Given the description of an element on the screen output the (x, y) to click on. 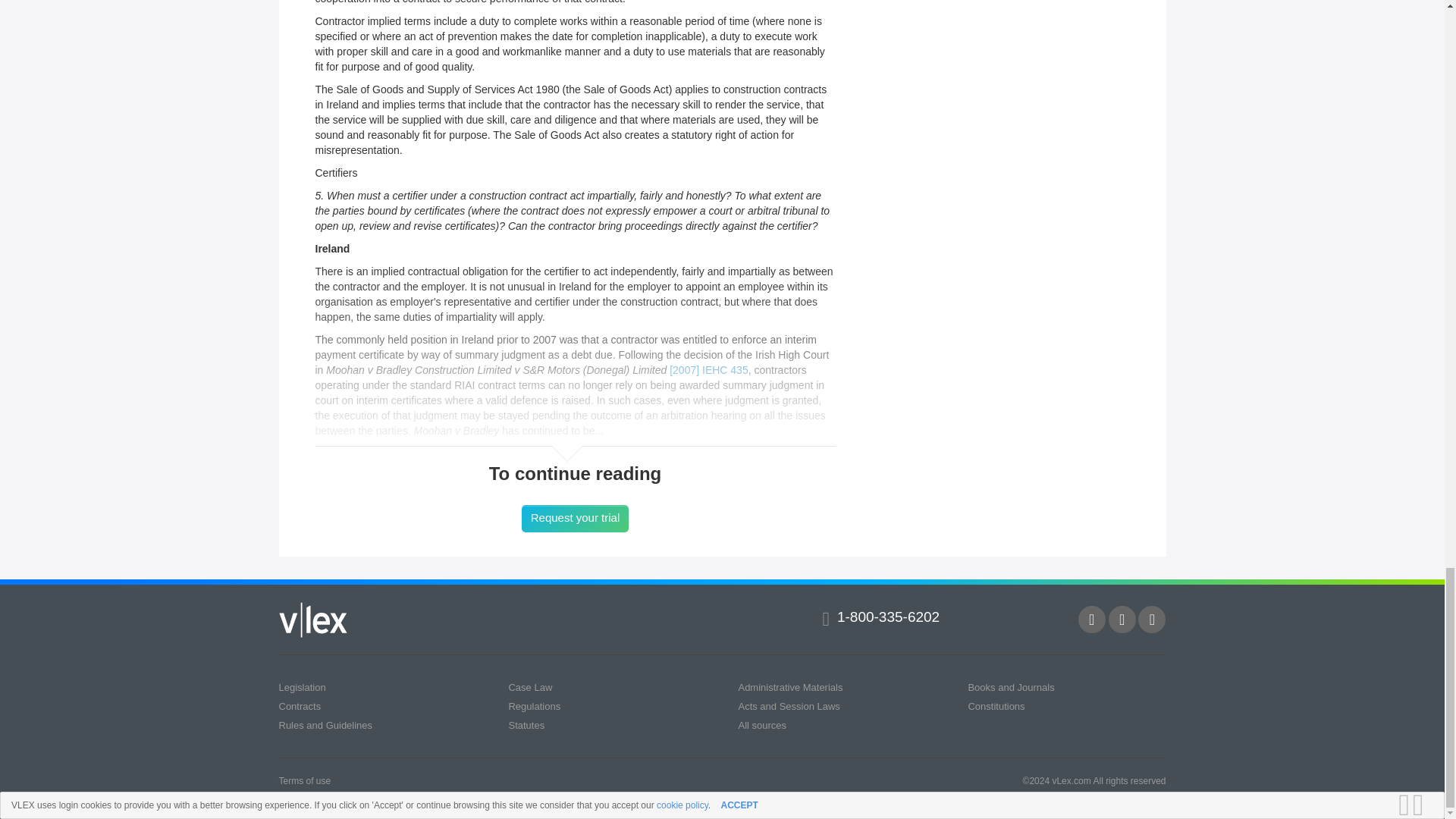
Rules and Guidelines (325, 725)
Rules and Guidelines (325, 725)
Books and Journals (1011, 686)
Regulations (534, 706)
Case Law (529, 686)
Statutes (526, 725)
Legislation (302, 686)
vLex (313, 619)
Contracts (300, 706)
Legislation (302, 686)
Contracts (300, 706)
Books and Journals (1011, 686)
Terms of use (305, 780)
Regulations (534, 706)
Terms of use (305, 780)
